Given the description of an element on the screen output the (x, y) to click on. 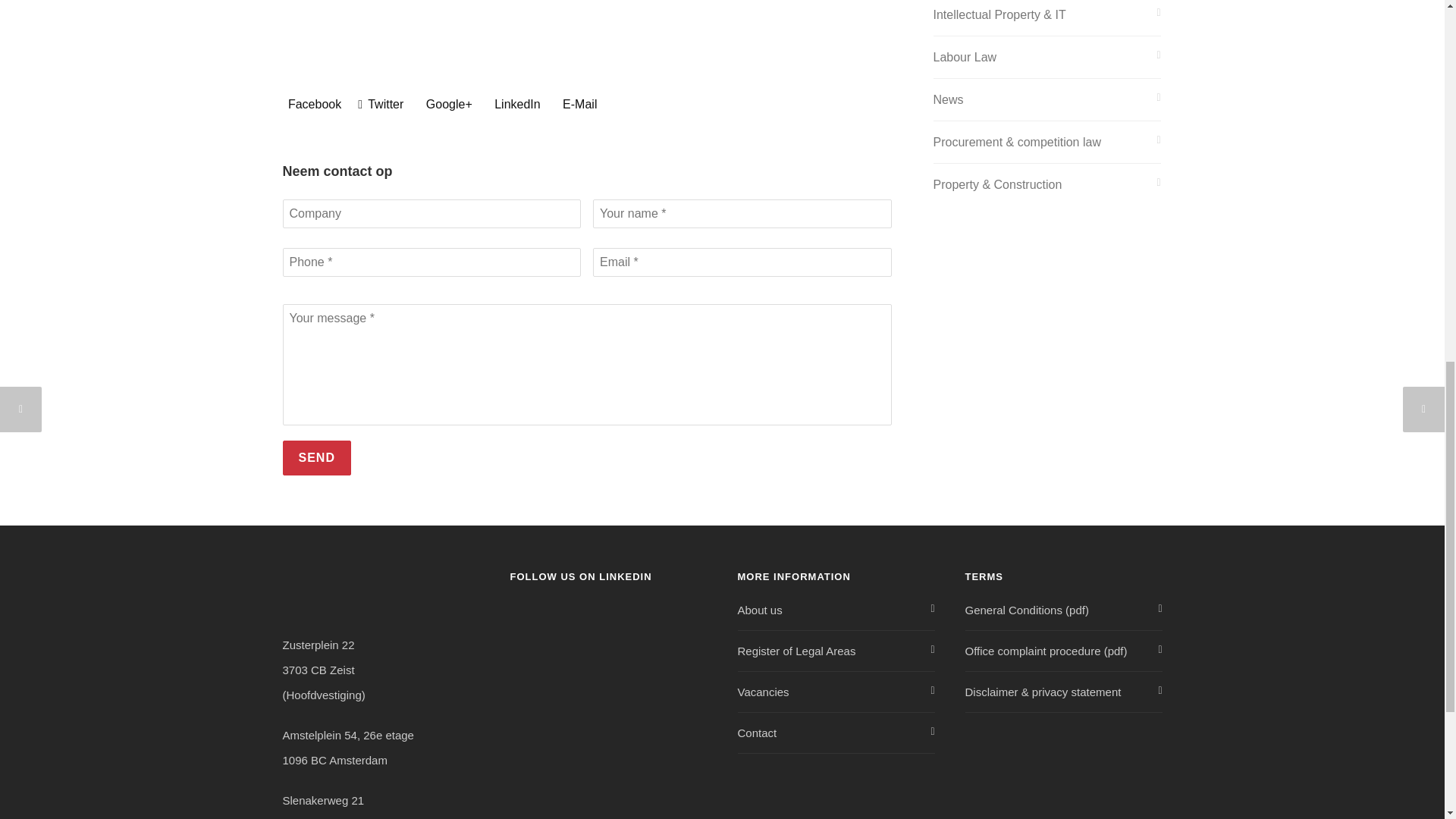
Share via LinkedIn (514, 103)
Send (316, 457)
Share via Twitter (380, 103)
Share via Facebook (311, 103)
Share via E-Mail (576, 103)
